Given the description of an element on the screen output the (x, y) to click on. 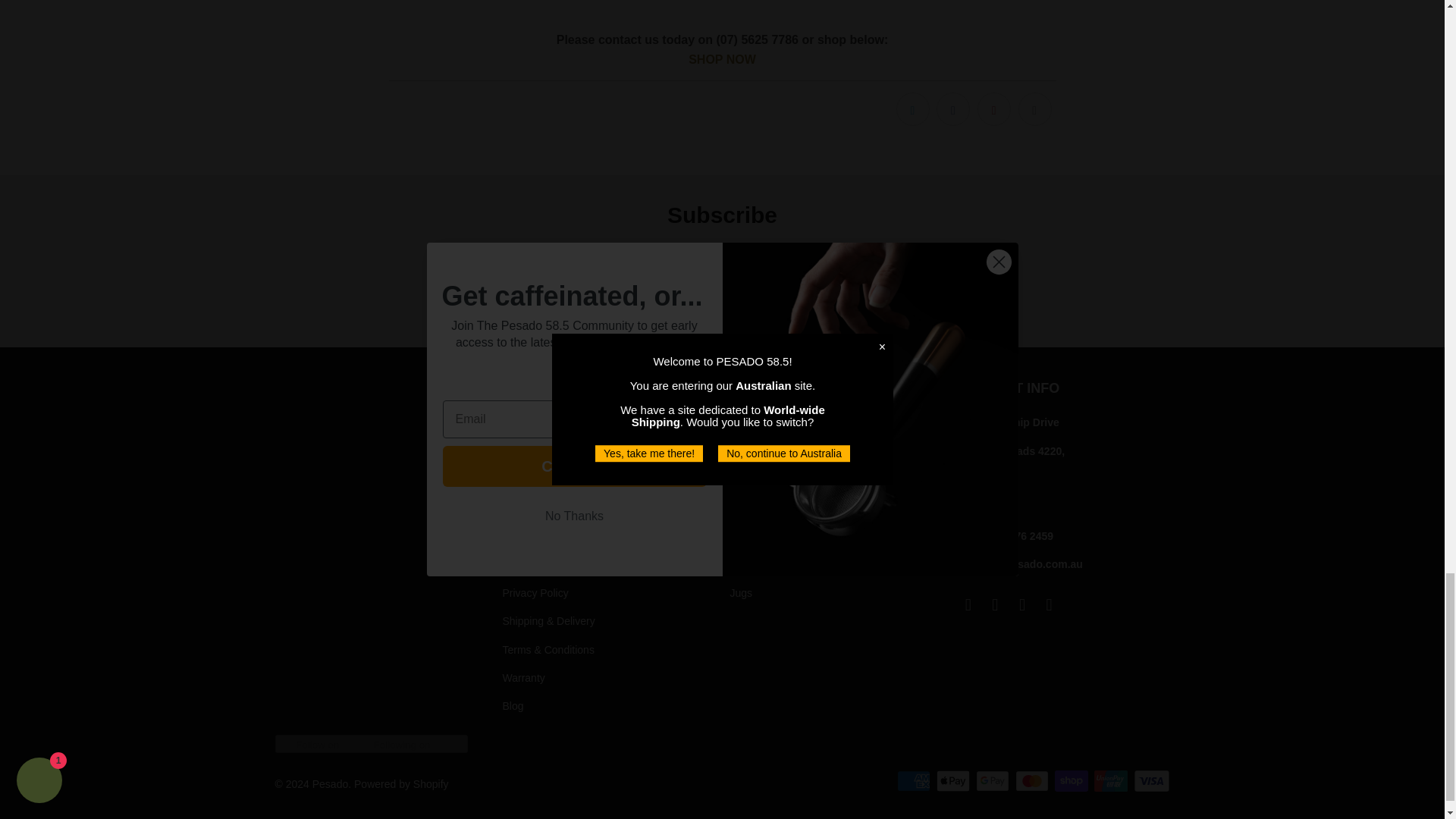
Email Pesado (967, 605)
Mastercard (1032, 780)
Share this on Pinterest (993, 109)
Shop Pay (1072, 780)
Pesado on YouTube (1049, 605)
Email this to a friend (1034, 109)
Sign Up (842, 296)
Union Pay (1112, 780)
Pesado on Facebook (995, 605)
Google Pay (993, 780)
Apple Pay (954, 780)
Share this on Facebook (952, 109)
Share this on Twitter (913, 109)
Pesado on Instagram (1022, 605)
American Express (914, 780)
